Given the description of an element on the screen output the (x, y) to click on. 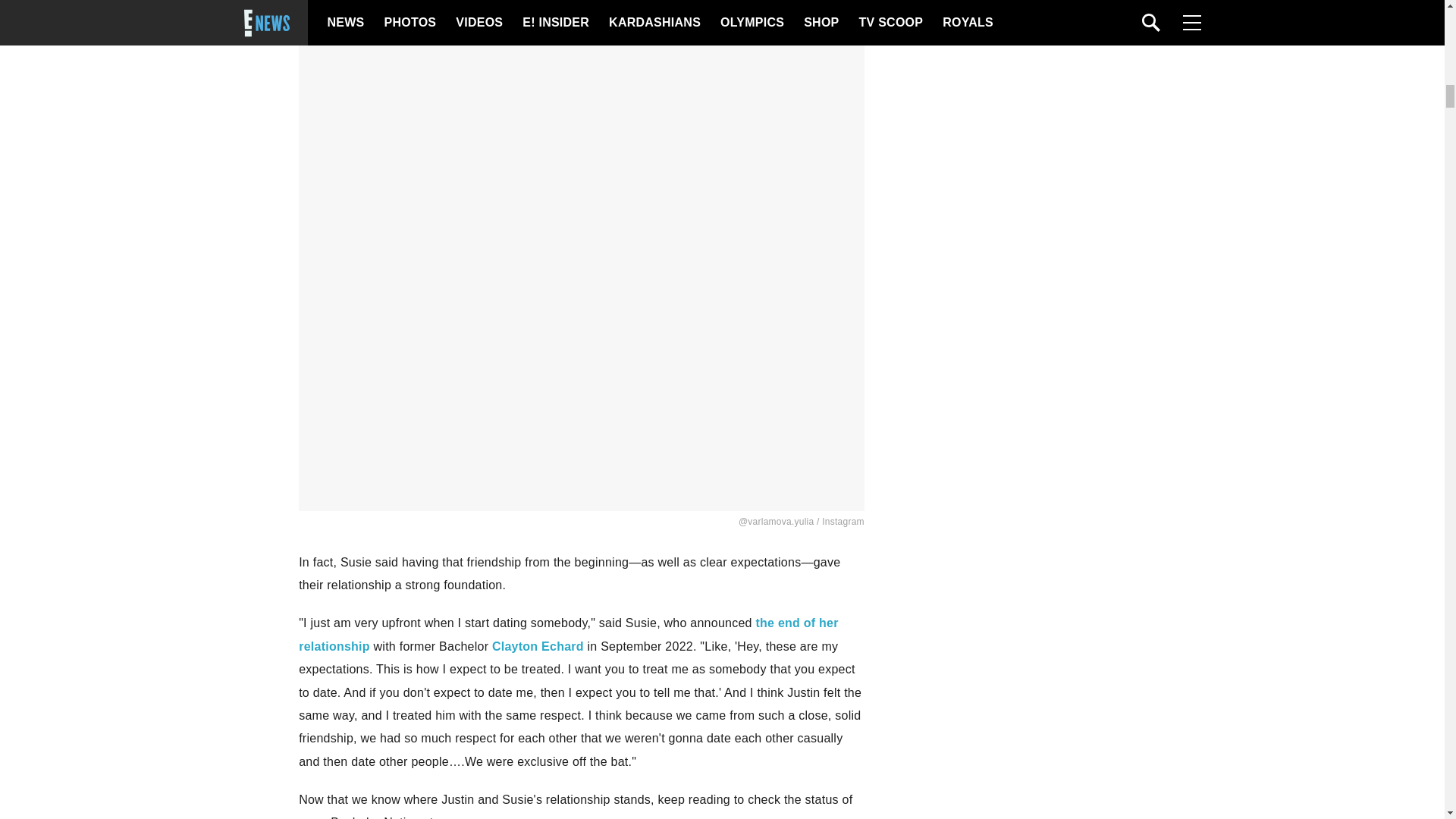
the end of her relationship (568, 633)
